Given the description of an element on the screen output the (x, y) to click on. 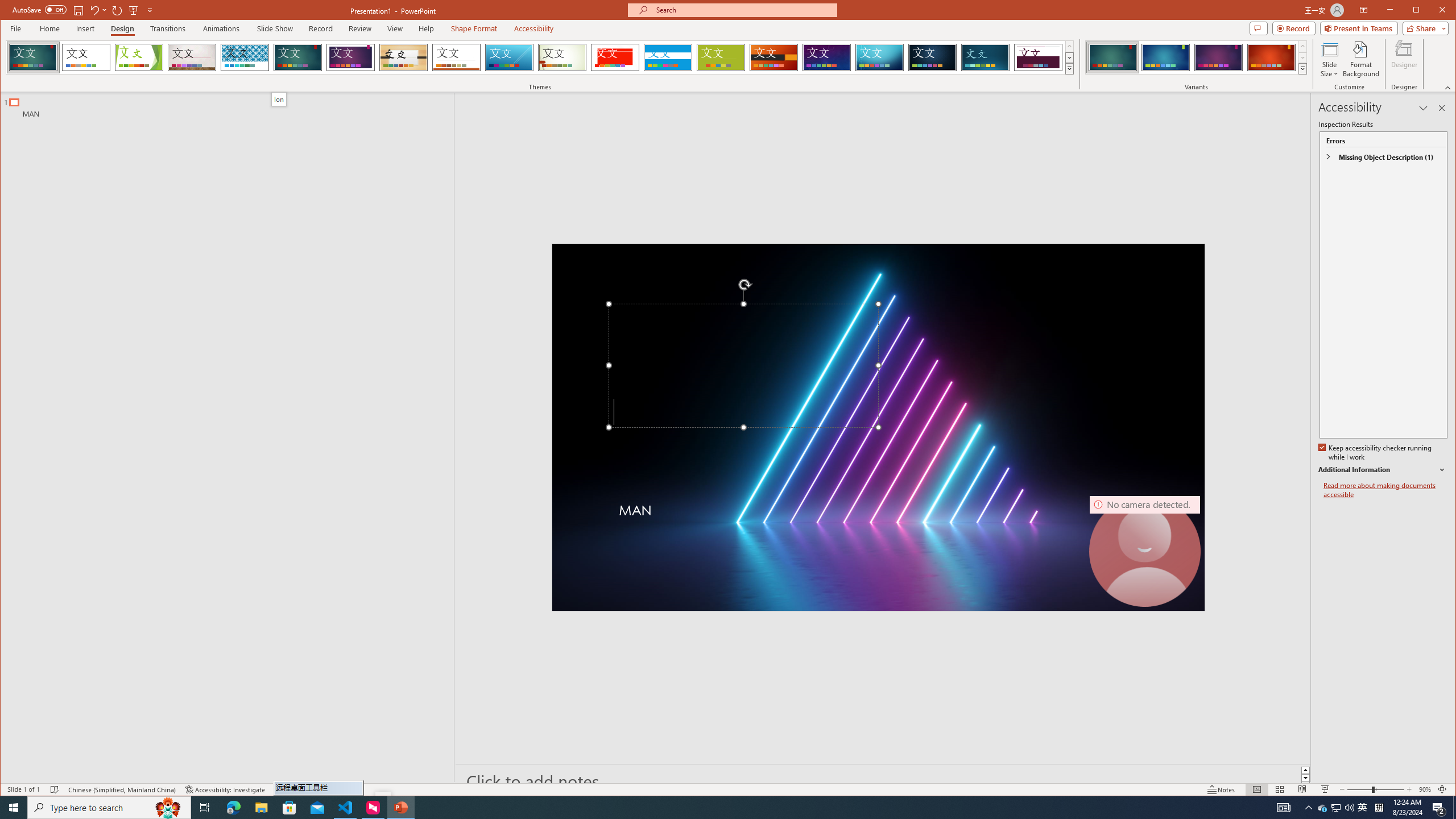
AutomationID: 4105 (1283, 807)
Slide Notes (882, 780)
Show desktop (1454, 807)
Microsoft Edge (233, 807)
User Promoted Notification Area (1336, 807)
Zoom 90% (1424, 789)
View (395, 28)
Animations (221, 28)
Search highlights icon opens search home window (167, 807)
Type here to search (108, 807)
Share (1422, 27)
Zoom In (1408, 789)
Close (1444, 11)
